Given the description of an element on the screen output the (x, y) to click on. 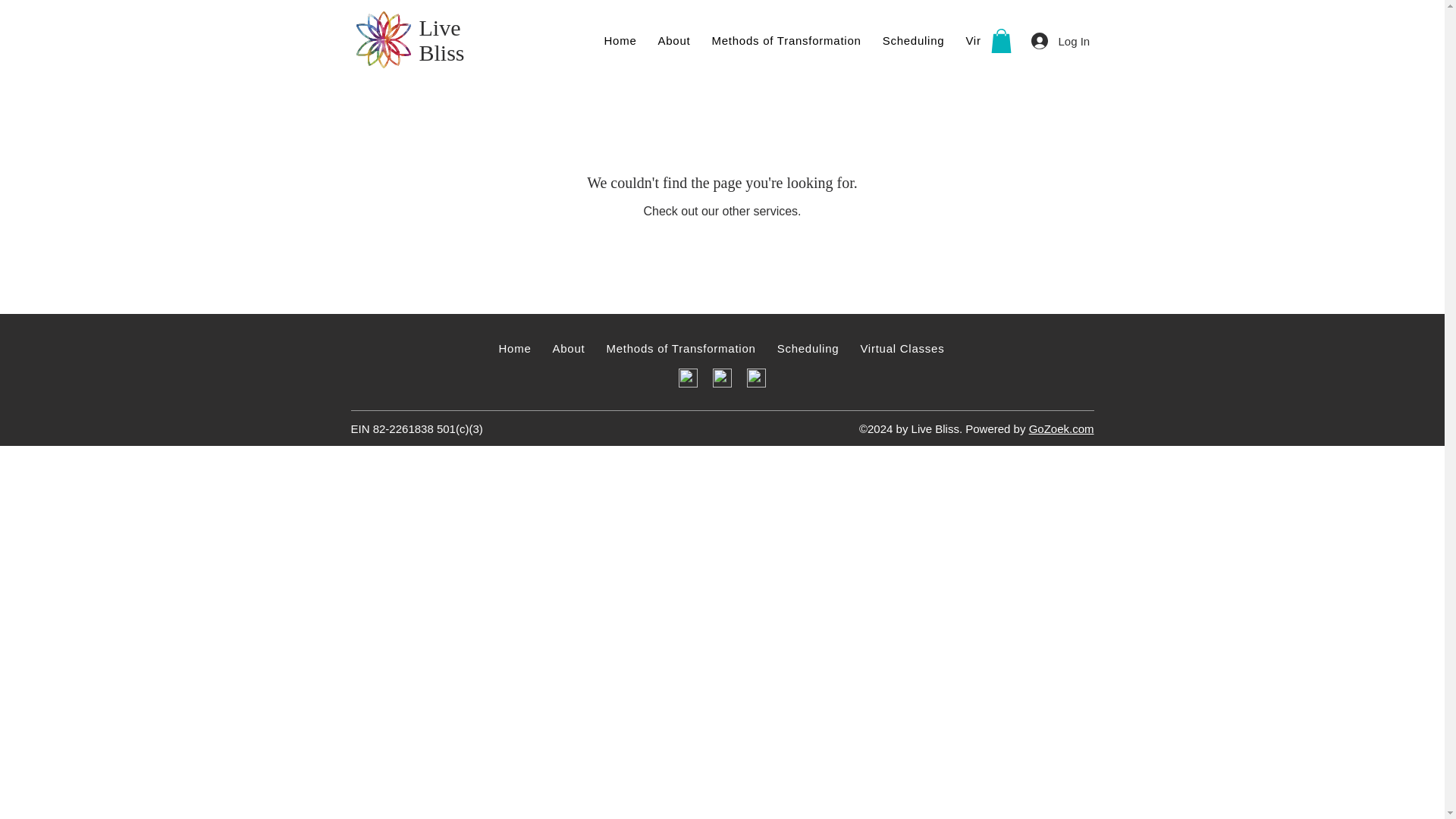
Scheduling (808, 348)
Log In (1057, 40)
Virtual Classes (901, 348)
Loyalty (1082, 348)
Virtual Classes (1007, 40)
GoZoek.com (1061, 428)
Scheduling (913, 40)
Loyalty (441, 40)
Refer Friends (1187, 40)
Refer Friends (1108, 40)
Methods of Transformation (1003, 348)
Home (680, 348)
Methods of Transformation (619, 40)
